Given the description of an element on the screen output the (x, y) to click on. 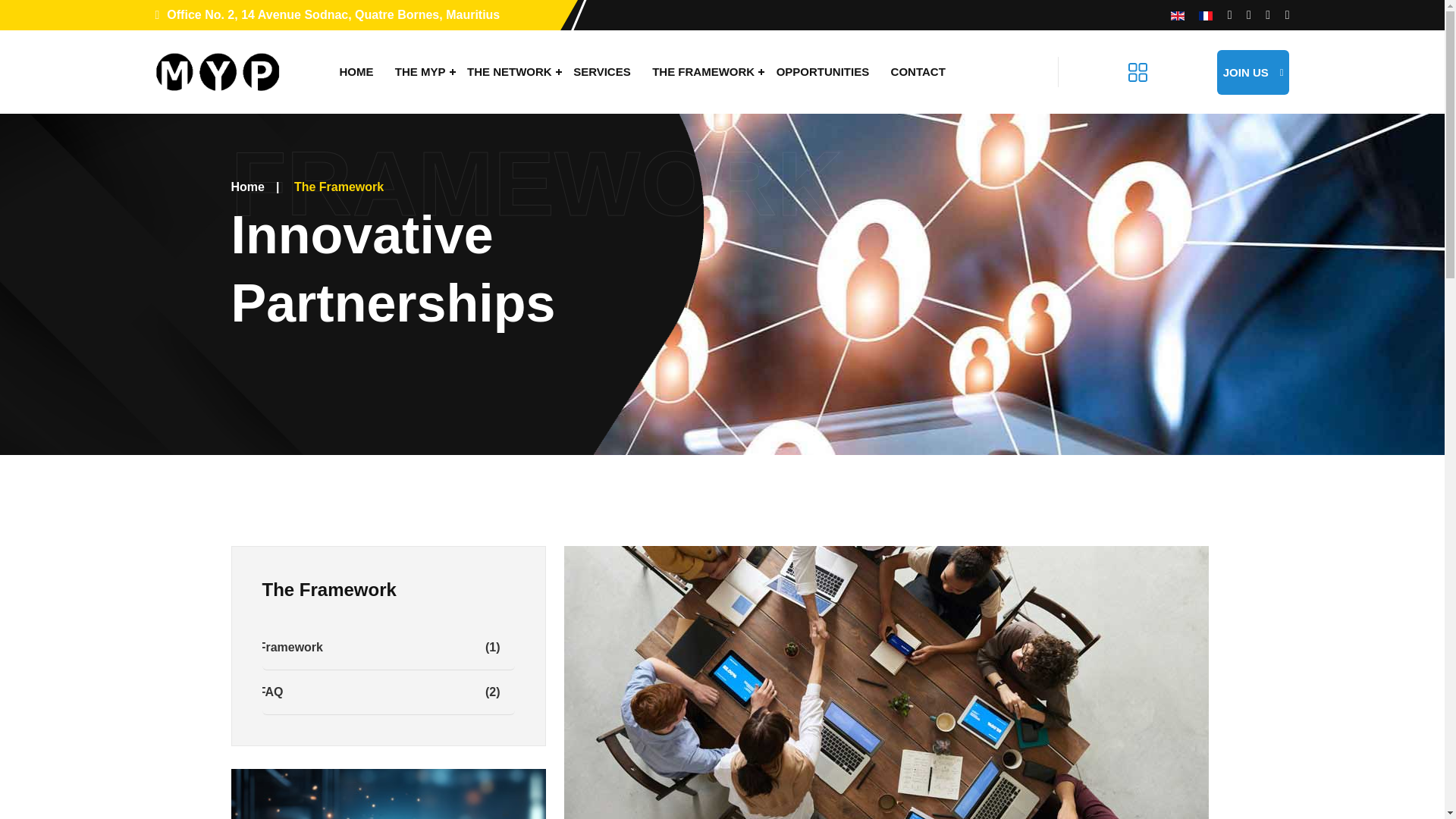
THE FRAMEWORK (702, 71)
SERVICES (602, 71)
JOIN US (1253, 72)
Home (246, 186)
OPPORTUNITIES (823, 71)
Office No. 2, 14 Avenue Sodnac, Quatre Bornes, Mauritius (326, 14)
THE NETWORK (509, 71)
